Given the description of an element on the screen output the (x, y) to click on. 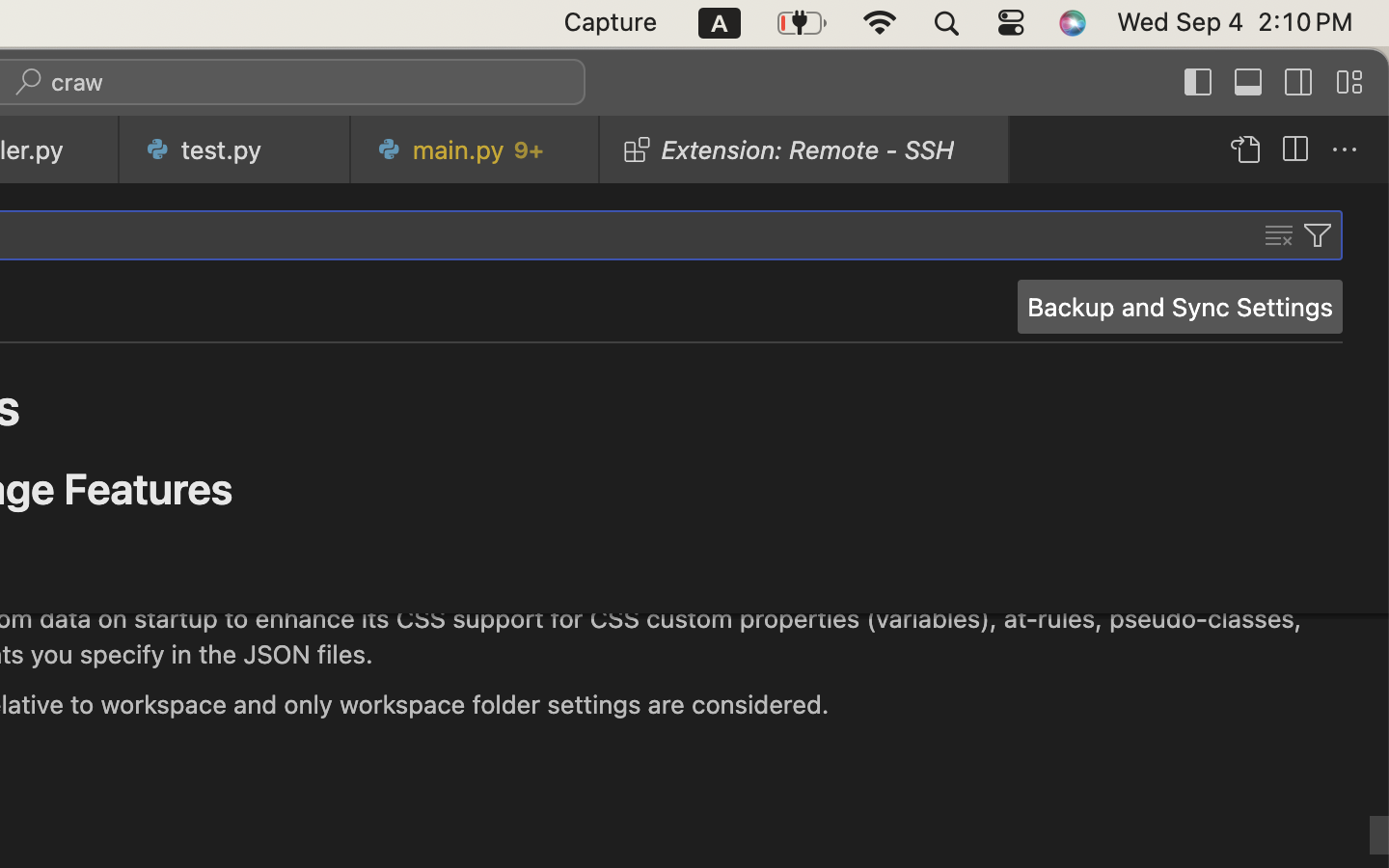
craw Element type: AXStaticText (78, 82)
 Element type: AXCheckBox (1198, 82)
 Element type: AXButton (1278, 235)
 Element type: AXButton (1244, 150)
 Element type: AXStaticText (1344, 150)
